Given the description of an element on the screen output the (x, y) to click on. 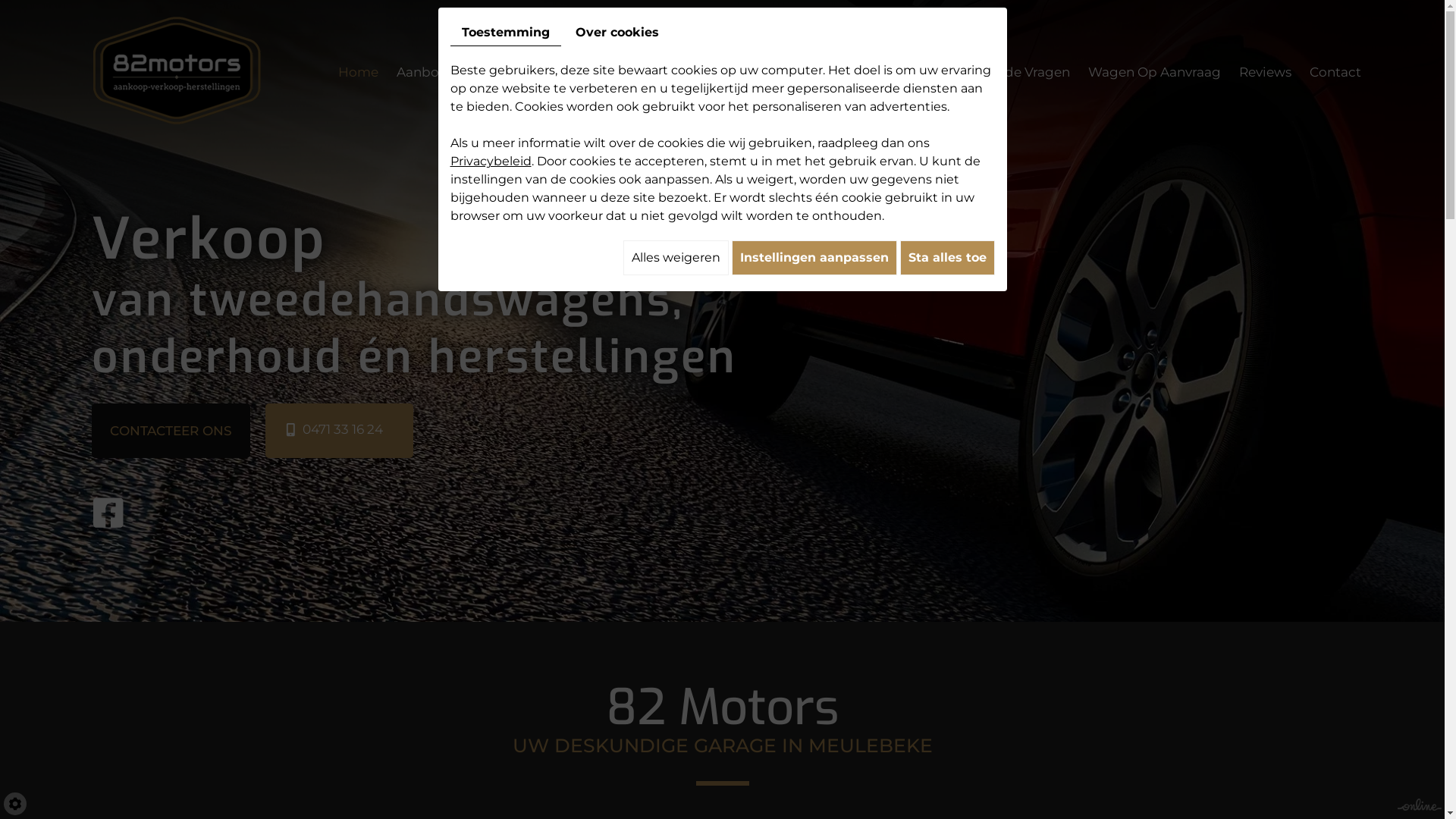
Wagen Op Aanvraag Element type: text (1153, 71)
Toestemming Element type: text (505, 32)
Aanbod Tweedehandswagens Element type: text (492, 71)
Privacybeleid Element type: text (490, 160)
Home Element type: text (357, 71)
Contact Element type: text (1334, 71)
Over cookies Element type: text (617, 32)
Alles weigeren Element type: text (675, 257)
Sta alles toe Element type: text (946, 257)
Veelgestelde Vragen Element type: text (1002, 71)
82 Motors - Garage Element type: hover (176, 69)
Onderhoud En Herstellingen Element type: text (700, 71)
Instellingen aanpassen Element type: text (813, 257)
Reviews Element type: text (1265, 71)
Cookie-instelling bewerken Element type: text (14, 803)
CONTACTEER ONS Element type: text (170, 430)
Aan- En Verkoop Element type: text (864, 71)
